Given the description of an element on the screen output the (x, y) to click on. 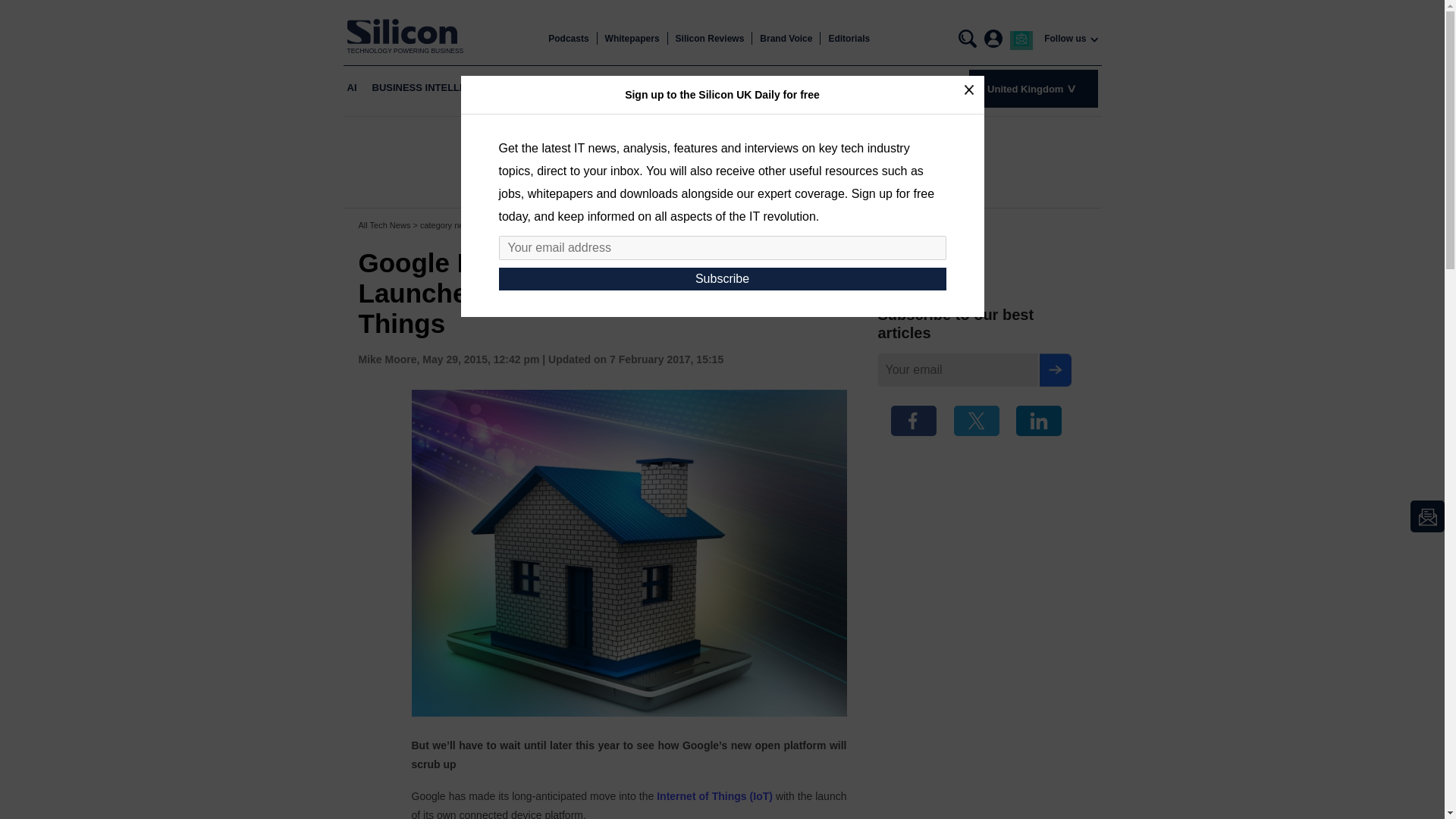
MARKETING (782, 87)
Follow us (1064, 38)
CLOUD (529, 87)
Brand Voice (786, 38)
Podcasts (568, 38)
DIGITAL TRANSFORMATION (629, 87)
Editorials (848, 38)
How To Explain The Internet Of Things To A Five-Year-Old (714, 796)
BUSINESS INTELLIGENCE (434, 87)
DATA (724, 87)
Silicon Reviews (709, 38)
Whitepapers (632, 38)
SECURITY (853, 87)
Silicon UK (405, 31)
United Kingdom (1033, 88)
